Given the description of an element on the screen output the (x, y) to click on. 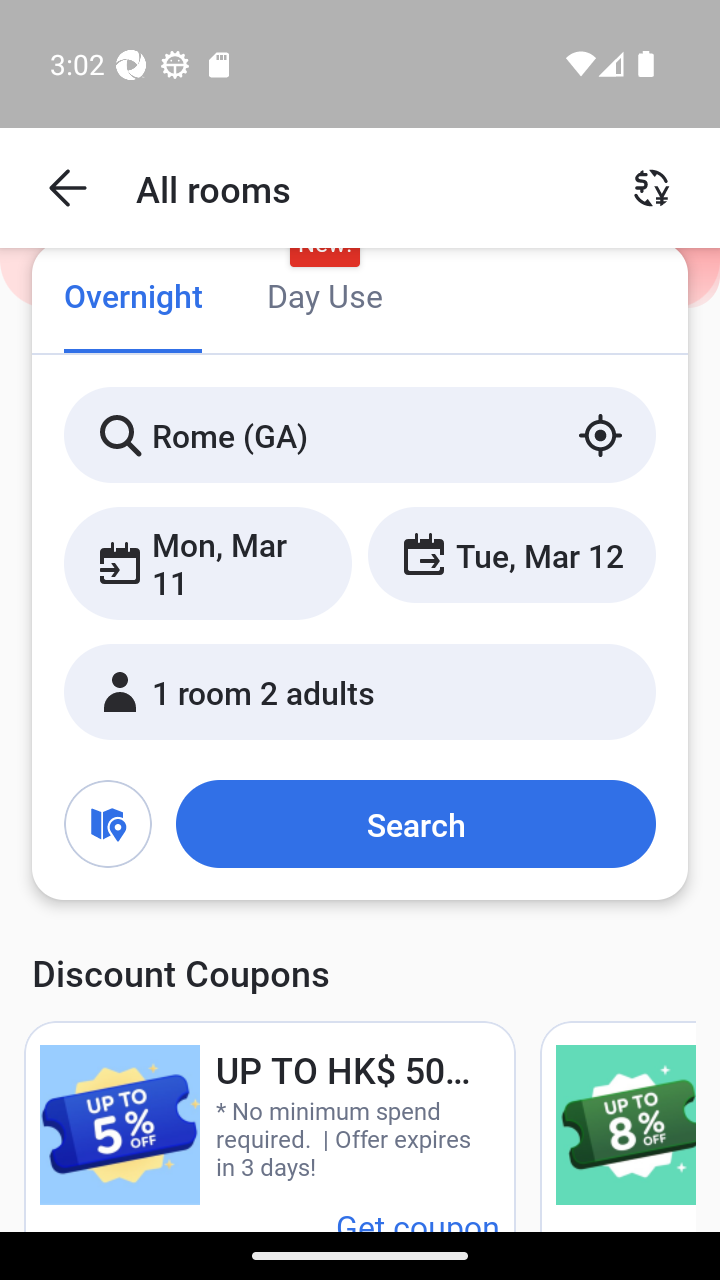
Day Use (324, 298)
Rome (GA) (359, 434)
Mon, Mar 11 (208, 562)
Tue, Mar 12 (511, 554)
1 room 2 adults (359, 691)
Search (415, 823)
